Given the description of an element on the screen output the (x, y) to click on. 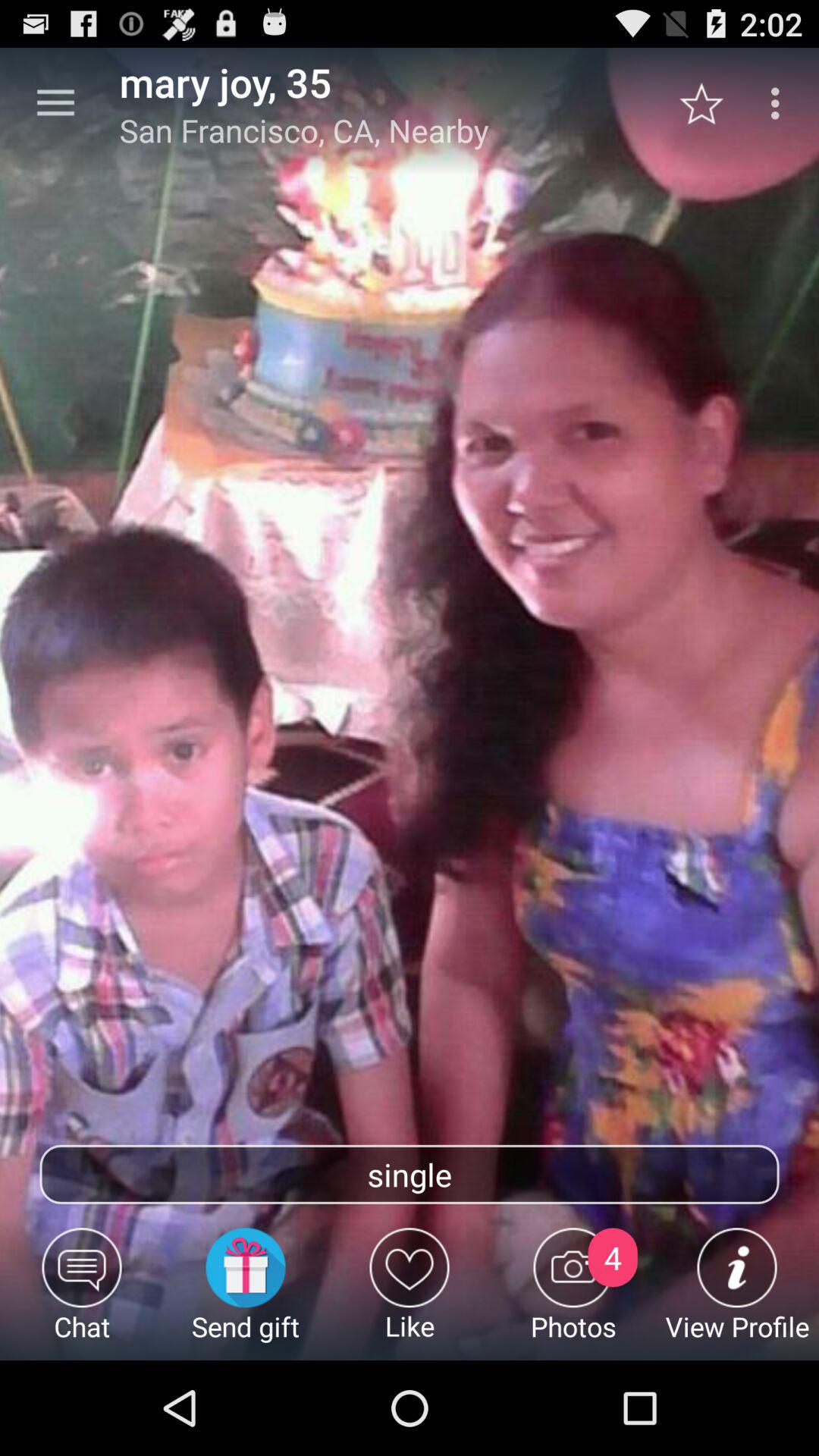
turn on app to the right of san francisco ca icon (709, 103)
